Given the description of an element on the screen output the (x, y) to click on. 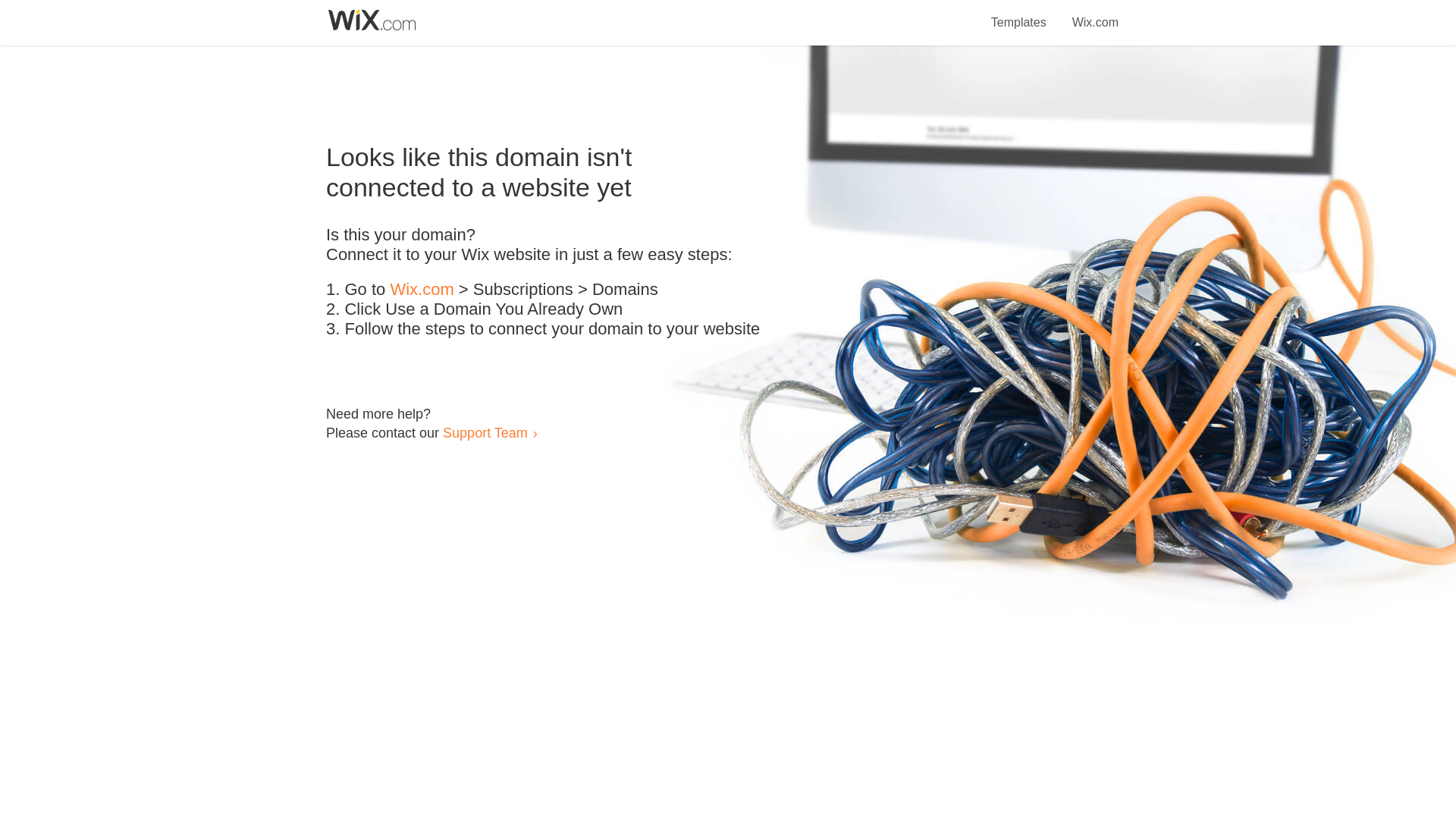
Wix.com (421, 289)
Wix.com (1095, 14)
Support Team (484, 432)
Templates (1018, 14)
